Given the description of an element on the screen output the (x, y) to click on. 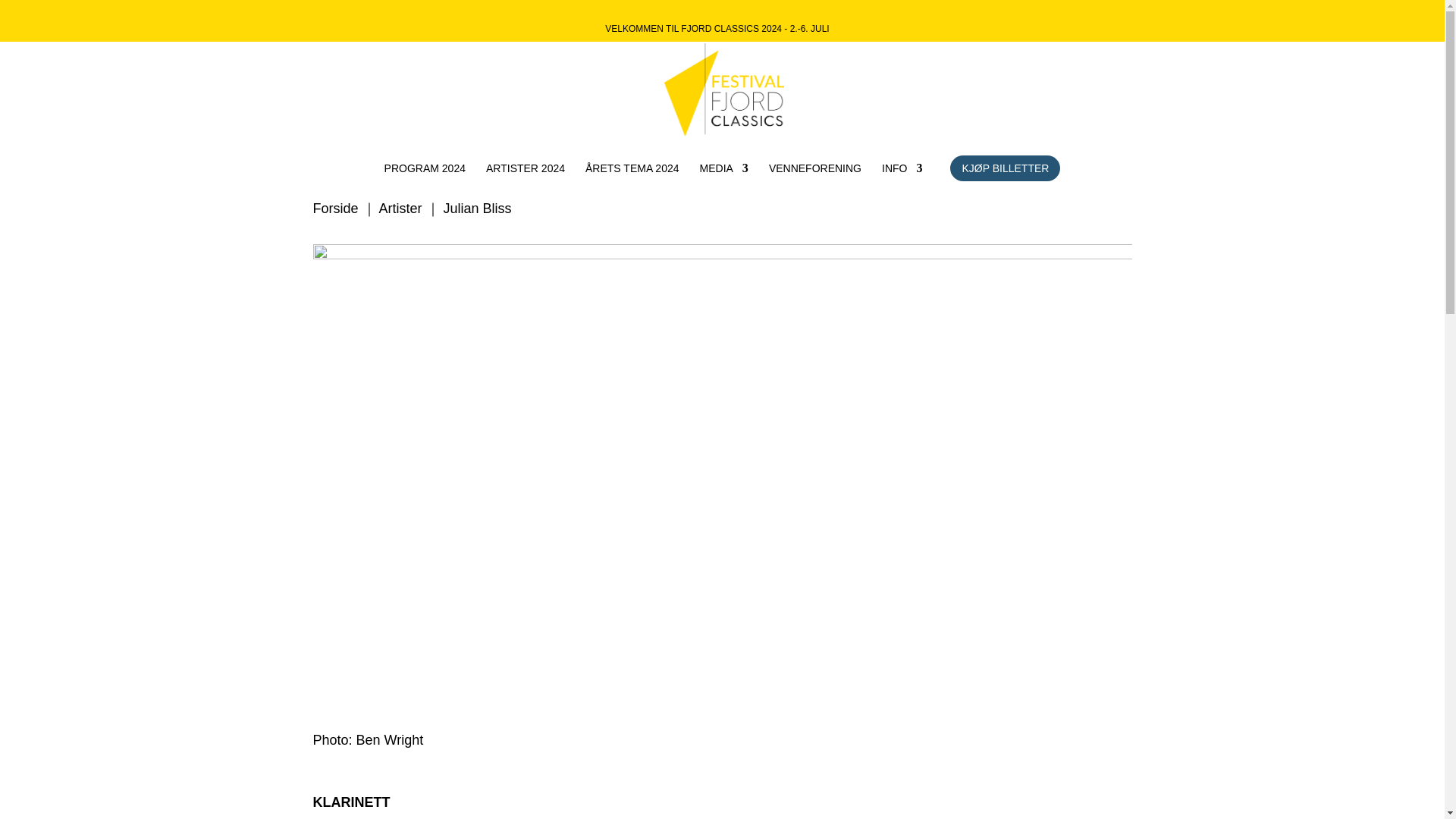
ARTISTER 2024 (525, 180)
INFO (901, 180)
PROGRAM 2024 (424, 180)
MEDIA (724, 180)
VENNEFORENING (814, 180)
